Given the description of an element on the screen output the (x, y) to click on. 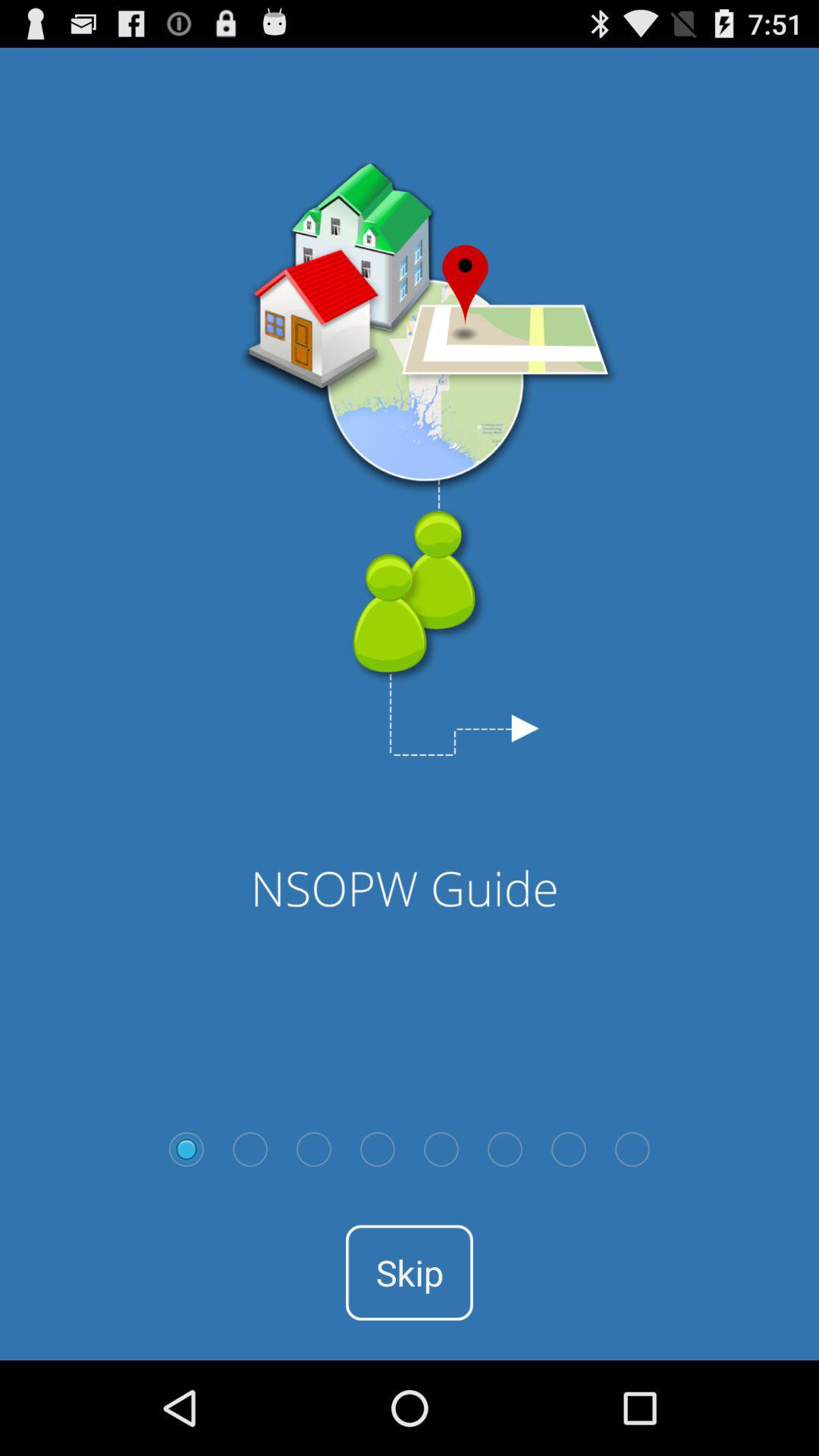
go to next page (568, 1149)
